Given the description of an element on the screen output the (x, y) to click on. 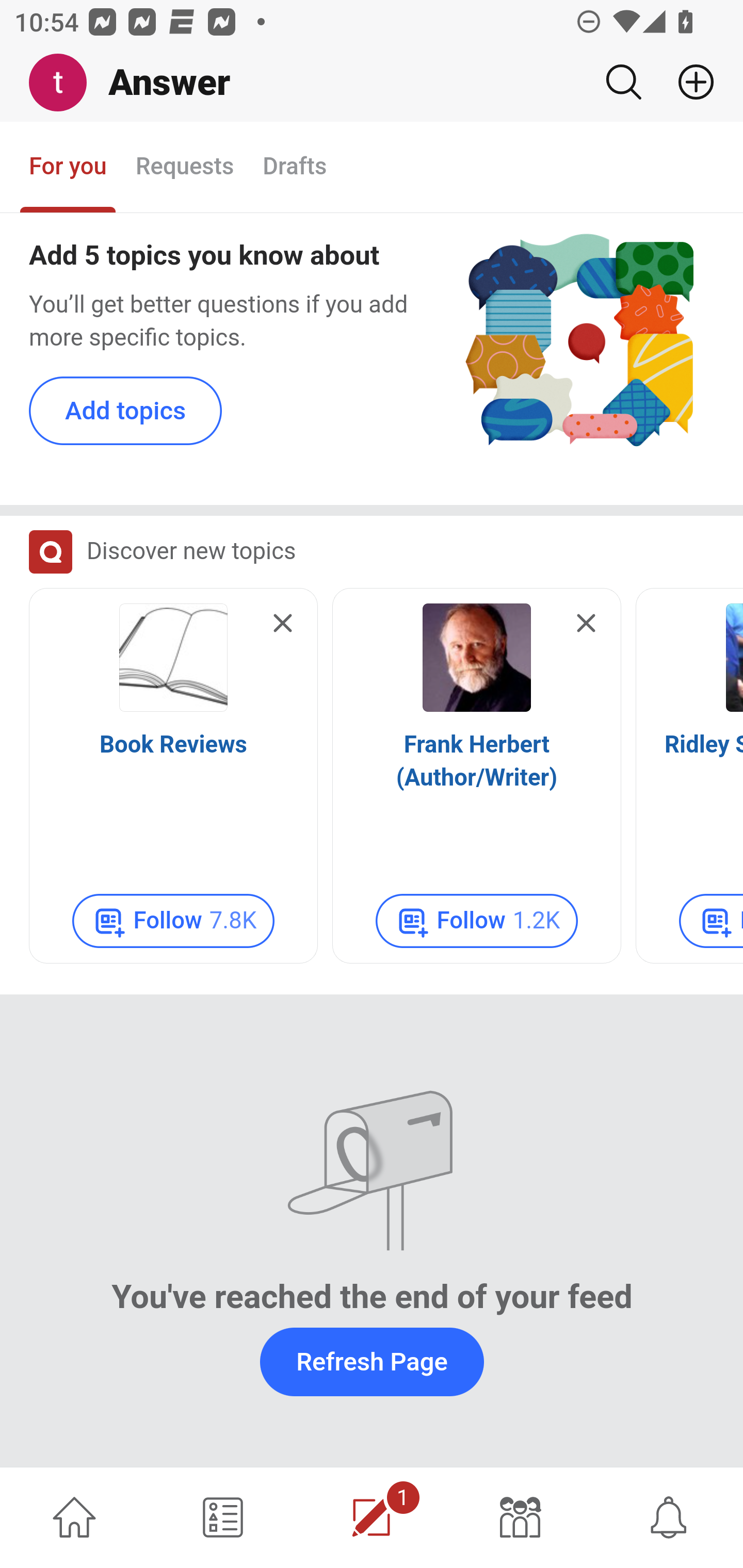
Me (64, 83)
Search (623, 82)
Add (688, 82)
For you (68, 167)
Requests (183, 167)
Drafts (295, 167)
Add topics (125, 411)
Hide this card (282, 624)
Hide this card (585, 624)
Icon for Book Reviews (173, 657)
Icon for Frank Herbert (Author/Writer) (476, 657)
Book Reviews (172, 744)
Frank Herbert (Author/Writer) (476, 761)
Follow 7.8K (172, 921)
Follow 1.2K (476, 921)
Refresh Page (371, 1362)
